Given the description of an element on the screen output the (x, y) to click on. 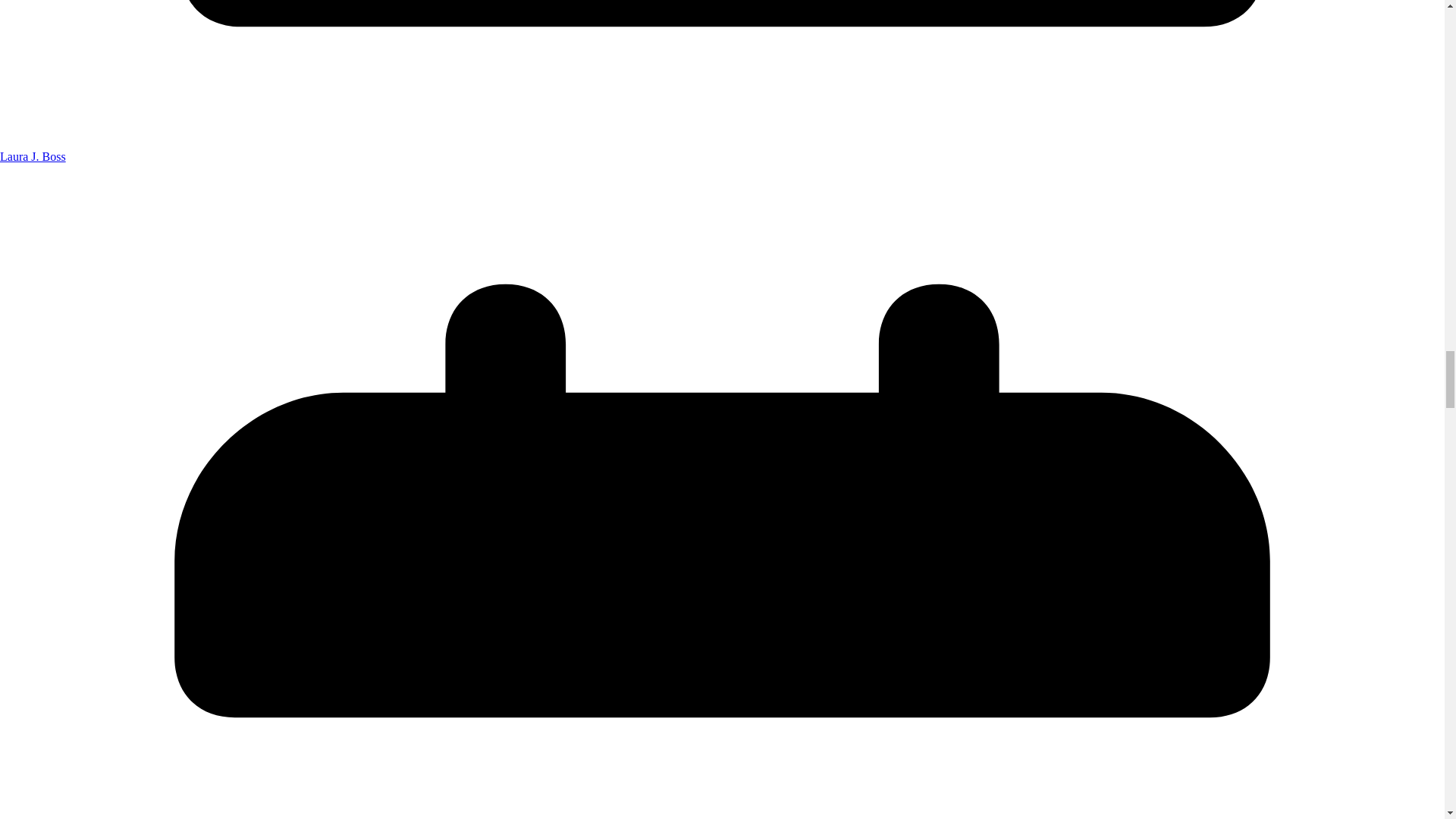
Laura J. Boss (32, 155)
Laura J. Boss (32, 155)
